Given the description of an element on the screen output the (x, y) to click on. 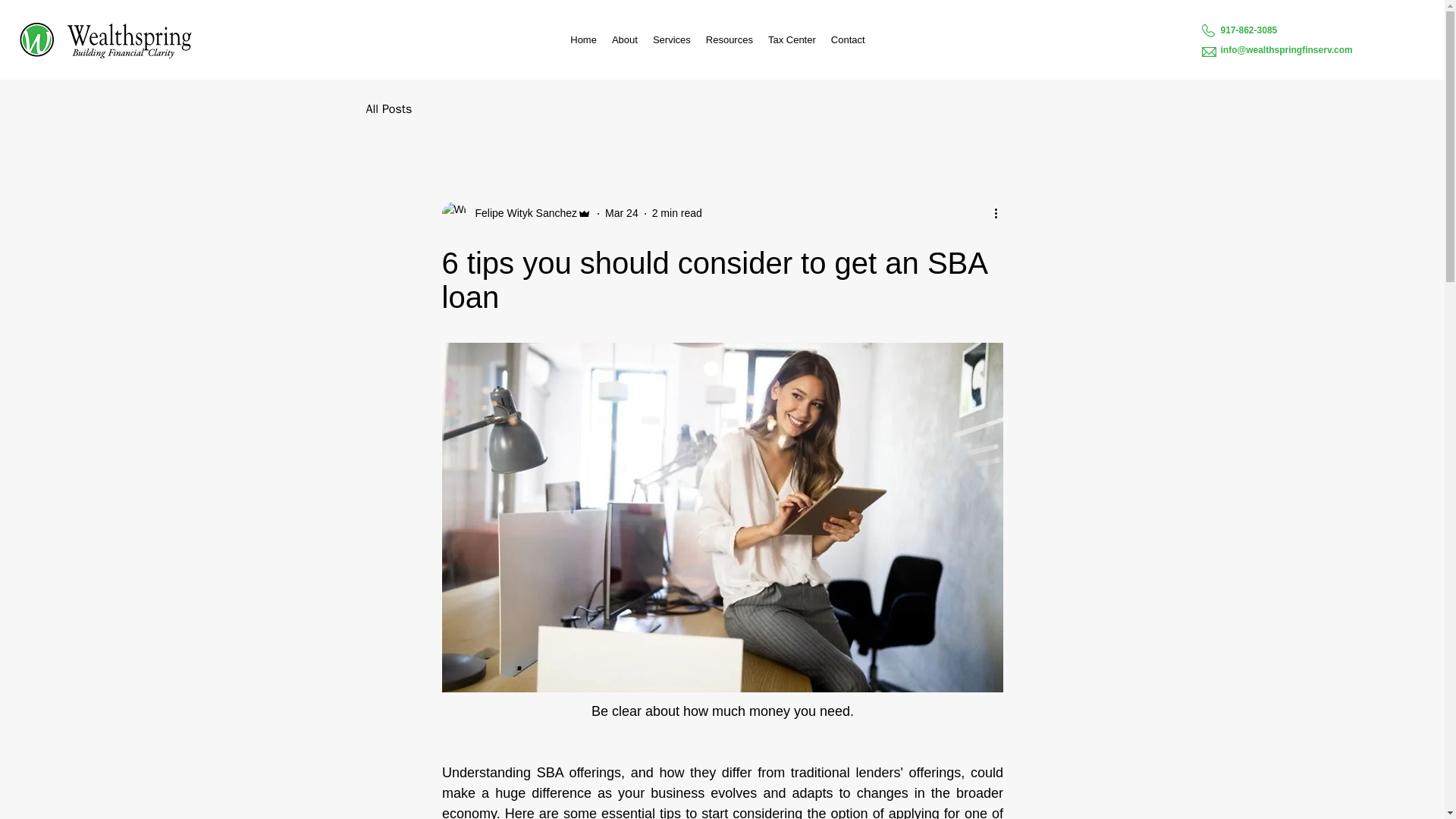
Mar 24 (622, 213)
Tax Center (792, 39)
Felipe Wityk Sanchez (516, 213)
All Posts (388, 109)
Contact (848, 39)
2 min read (676, 213)
Home (583, 39)
Resources (729, 39)
Services (671, 39)
Felipe Wityk Sanchez (520, 213)
